Given the description of an element on the screen output the (x, y) to click on. 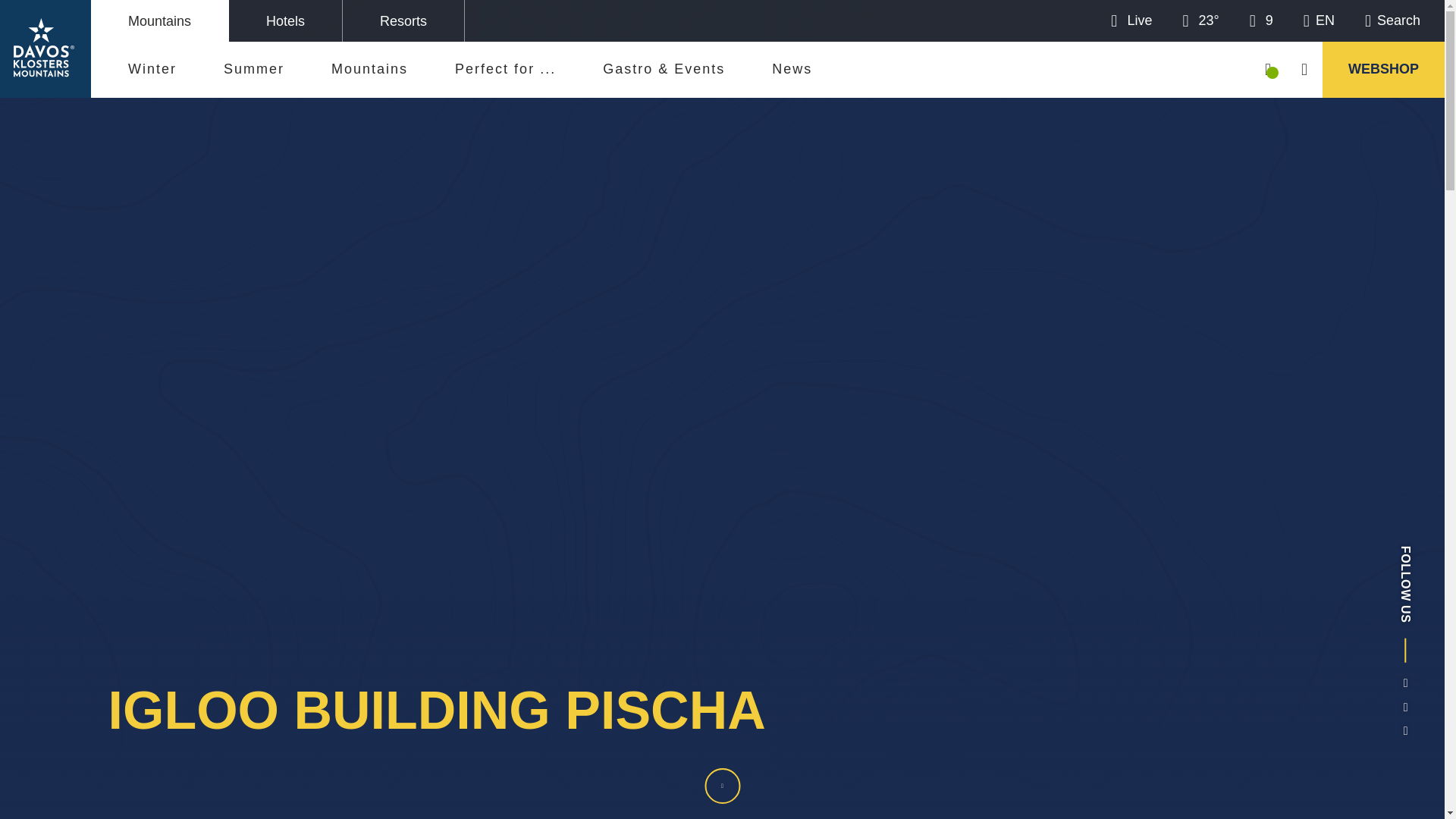
Live (1130, 19)
9 (1260, 19)
Mountains (159, 20)
Hotels (285, 20)
Davo Klosters Mountains Logo (45, 48)
EN (1319, 20)
Search (1393, 20)
Resorts (403, 20)
